Given the description of an element on the screen output the (x, y) to click on. 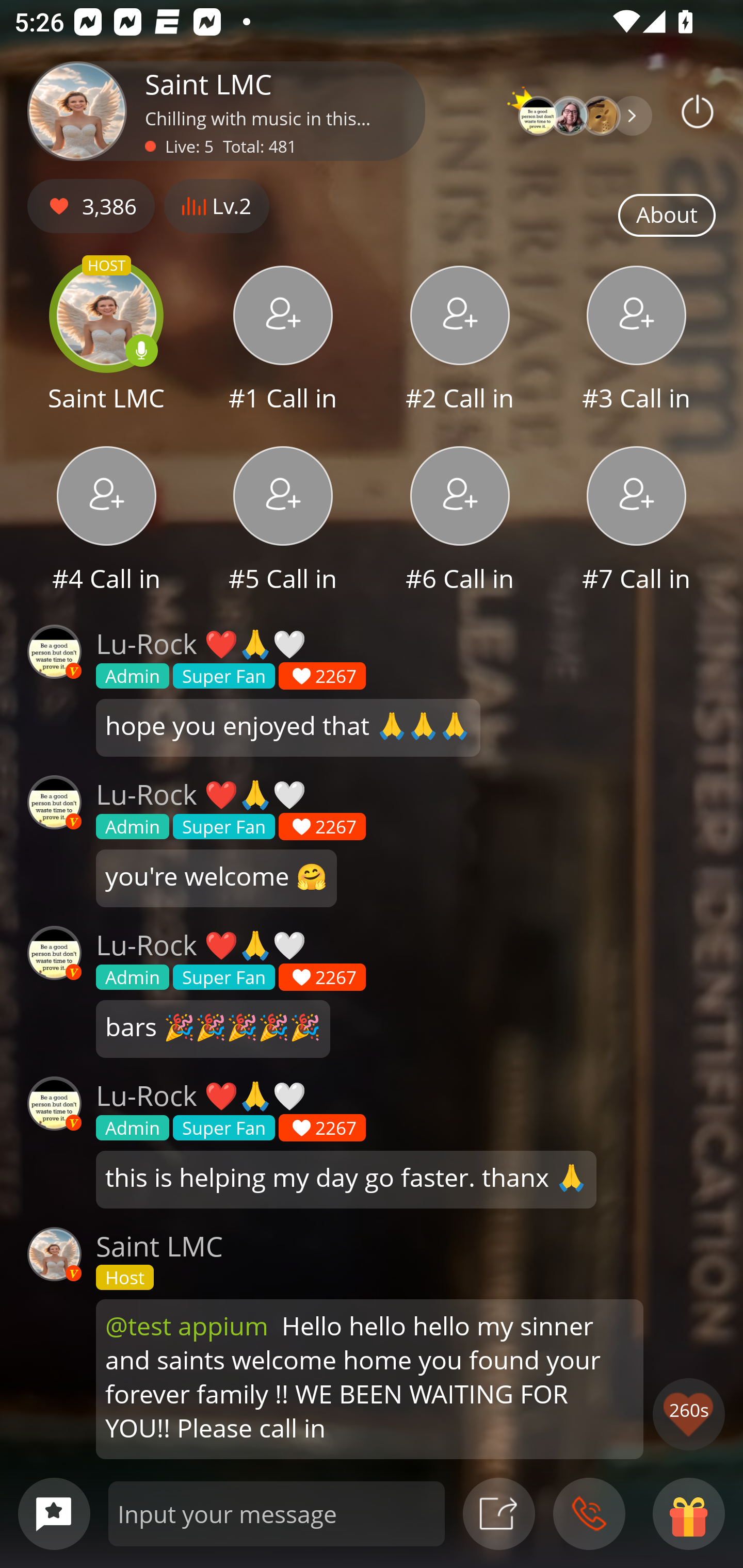
Podbean (697, 111)
About (666, 215)
HOST Saint LMC (105, 340)
#1 Call in (282, 340)
#2 Call in (459, 340)
#3 Call in (636, 340)
#4 Call in (105, 521)
#5 Call in (282, 521)
#6 Call in (459, 521)
#7 Call in (636, 521)
Input your message (276, 1513)
